Given the description of an element on the screen output the (x, y) to click on. 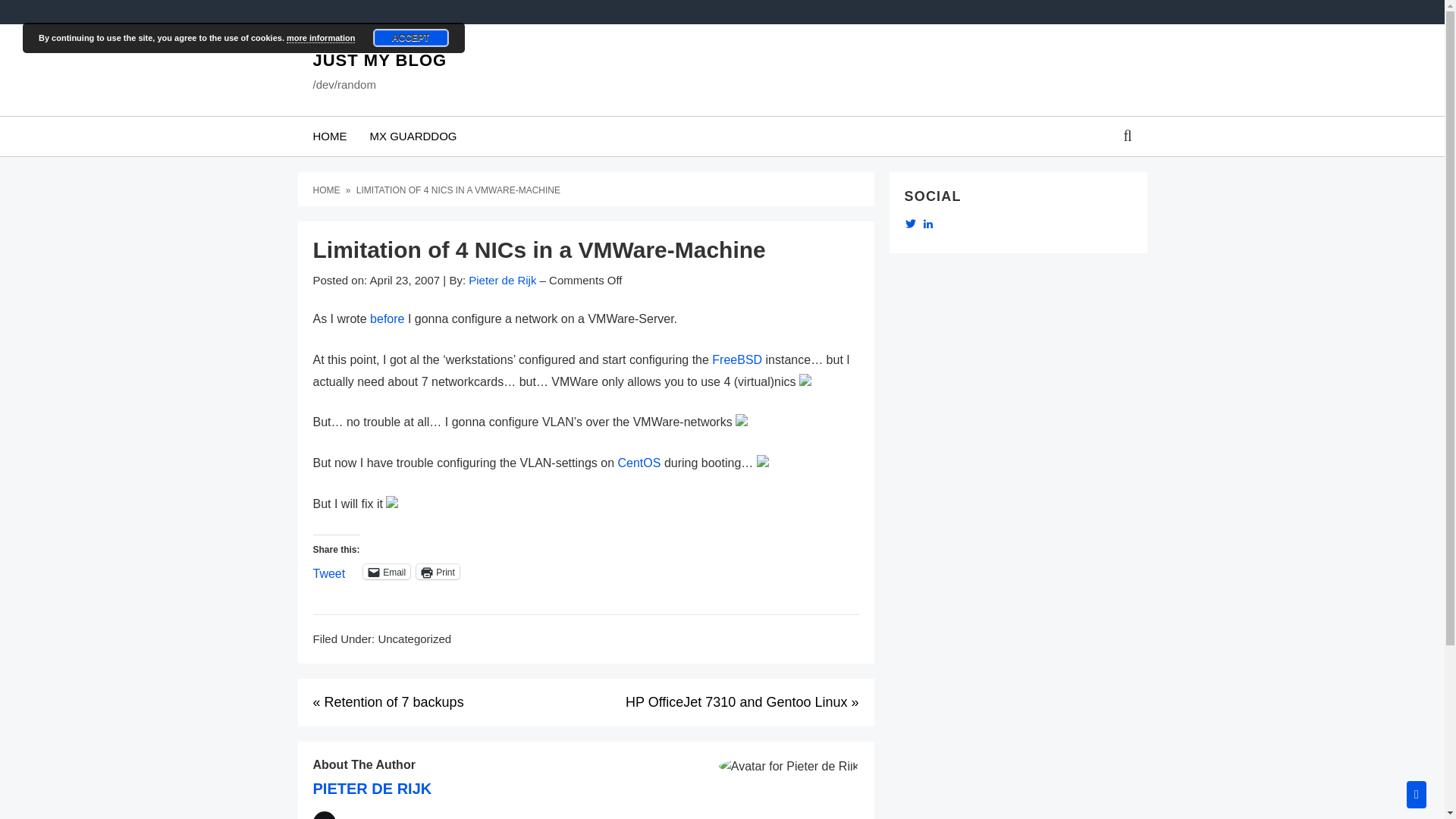
Print (438, 571)
CentOS (639, 462)
Pieter de Rijk (501, 279)
Click to email a link to a friend (386, 571)
Tweet (329, 571)
before (386, 318)
more information (320, 38)
ACCEPT (410, 37)
Click to print (438, 571)
MX GUARDDOG (412, 136)
PIETER DE RIJK (371, 788)
FreeBSD (736, 359)
HOME (329, 136)
Home (327, 190)
Email (386, 571)
